Given the description of an element on the screen output the (x, y) to click on. 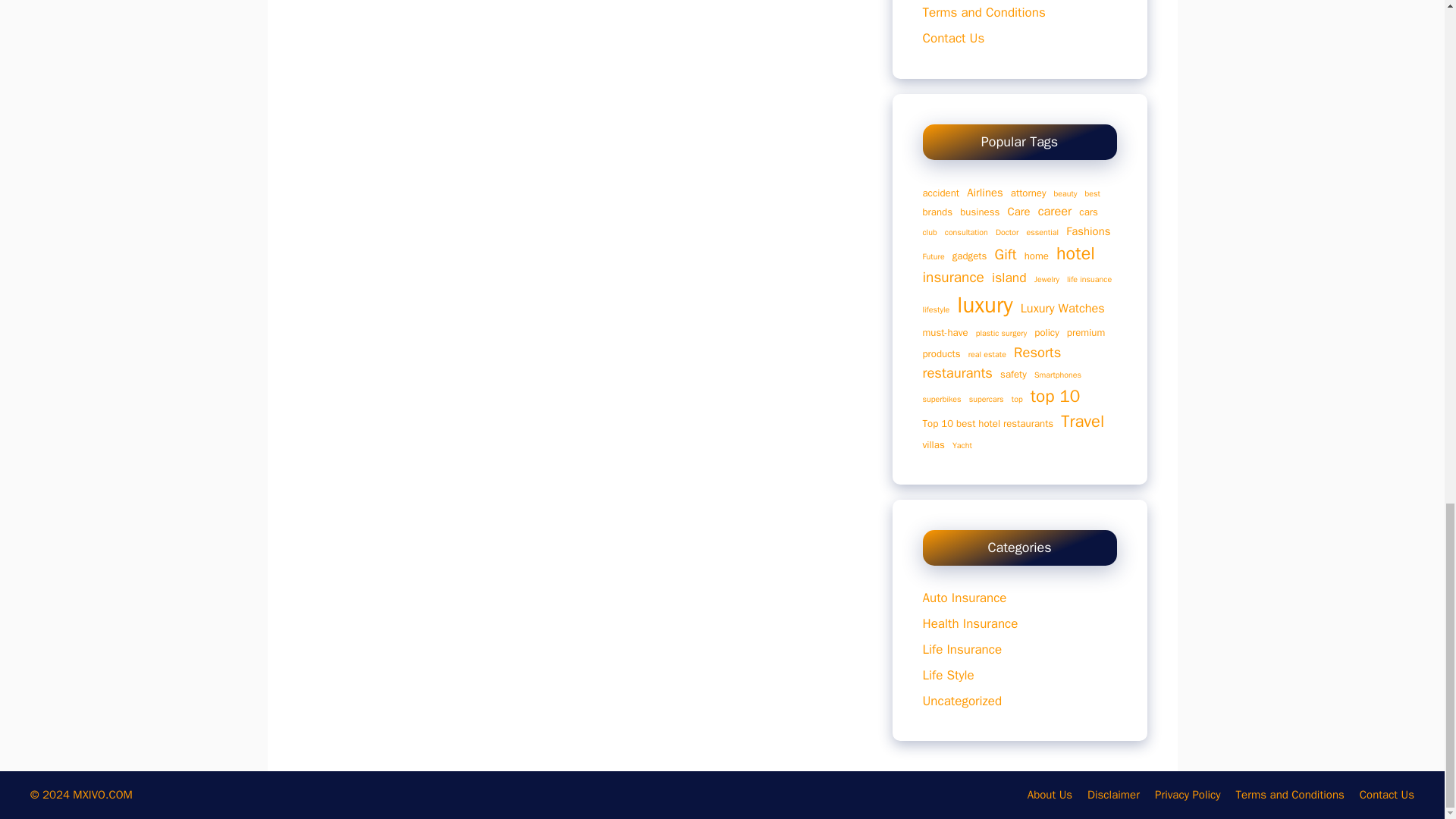
Scroll back to top (1406, 211)
accident (940, 192)
Terms and Conditions (983, 12)
Contact Us (952, 37)
